Given the description of an element on the screen output the (x, y) to click on. 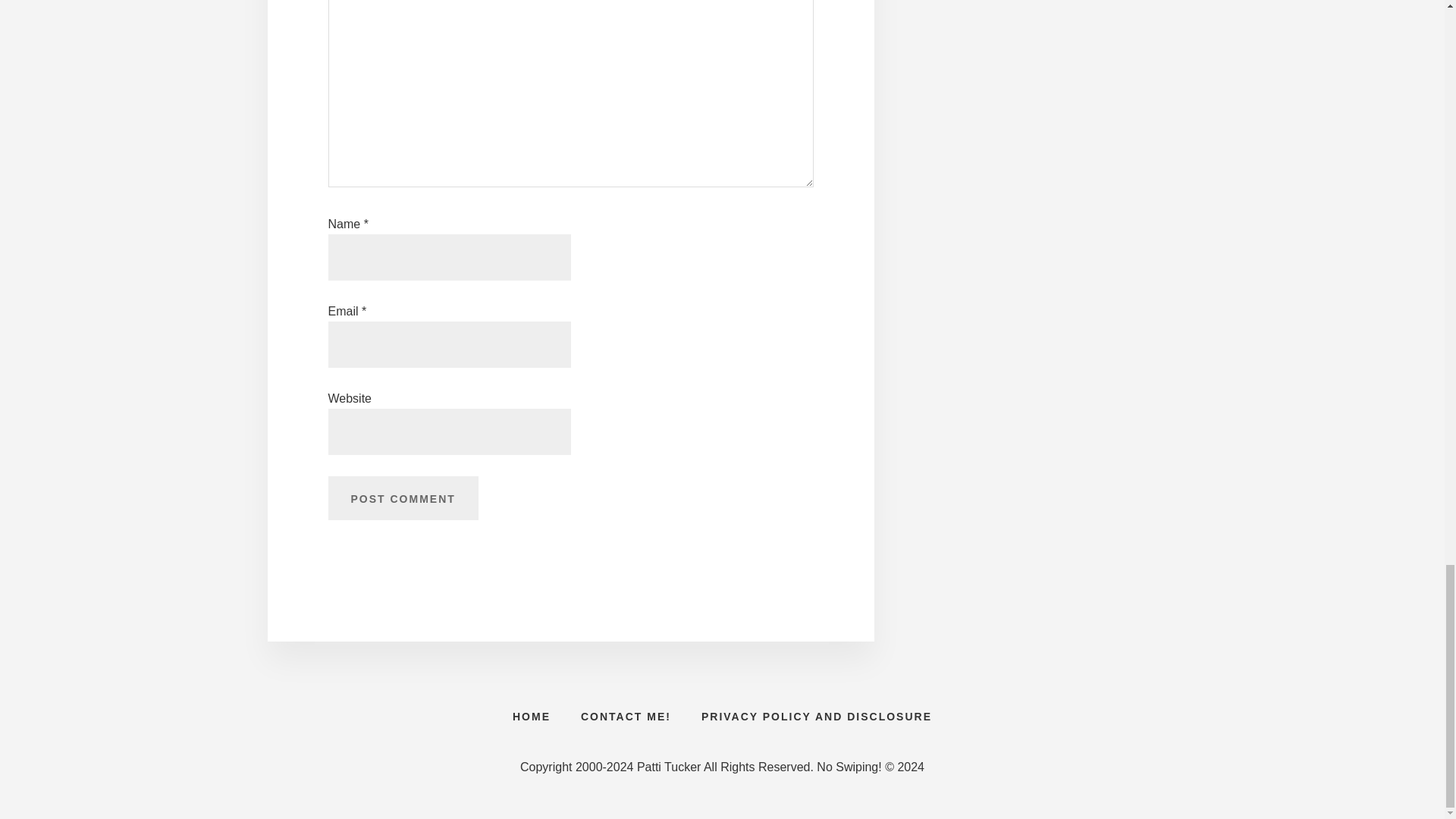
Post Comment (402, 497)
PRIVACY POLICY AND DISCLOSURE (816, 716)
Post Comment (402, 497)
CONTACT ME! (625, 716)
HOME (531, 716)
